Given the description of an element on the screen output the (x, y) to click on. 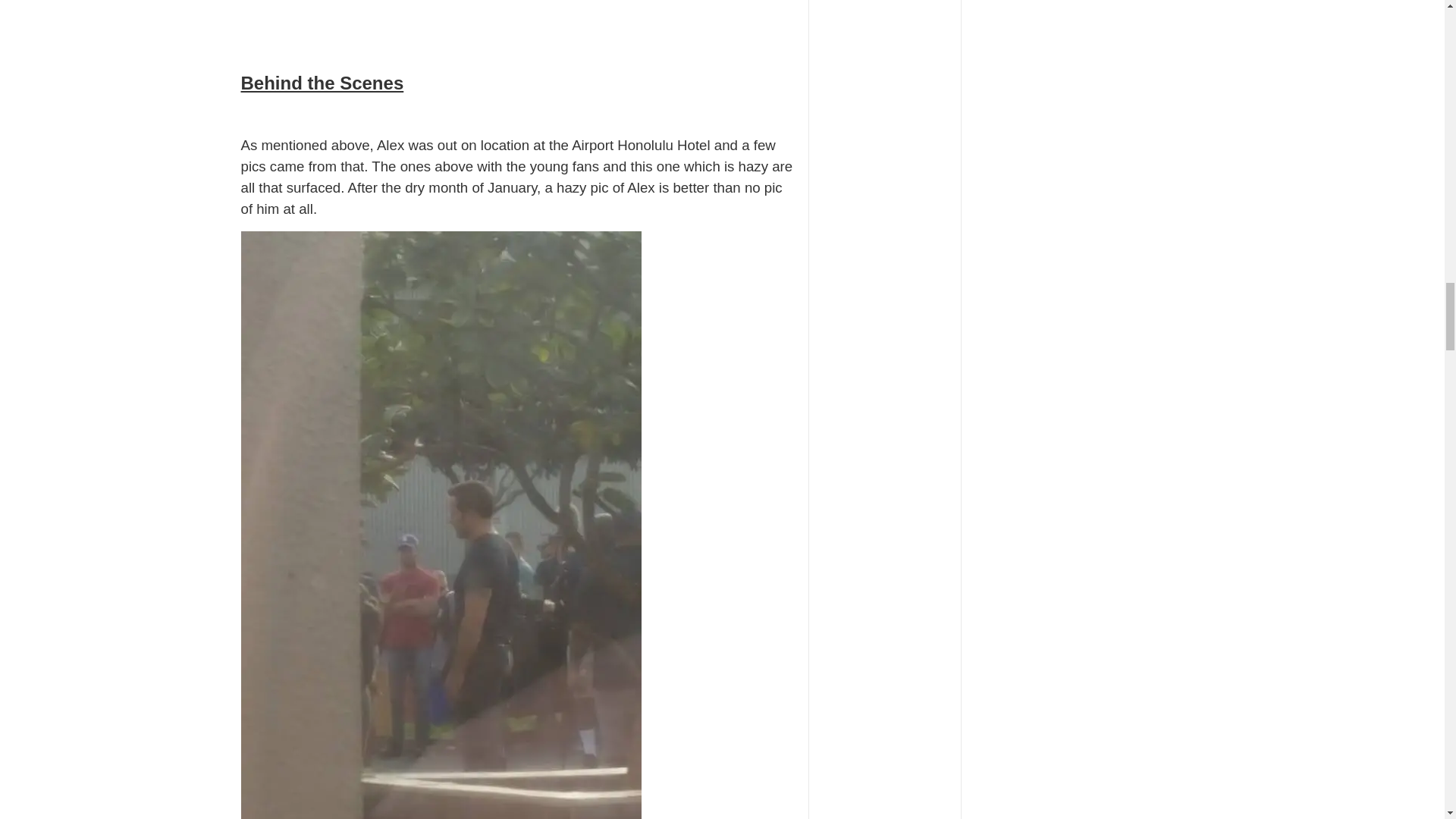
Source (263, 1)
